Given the description of an element on the screen output the (x, y) to click on. 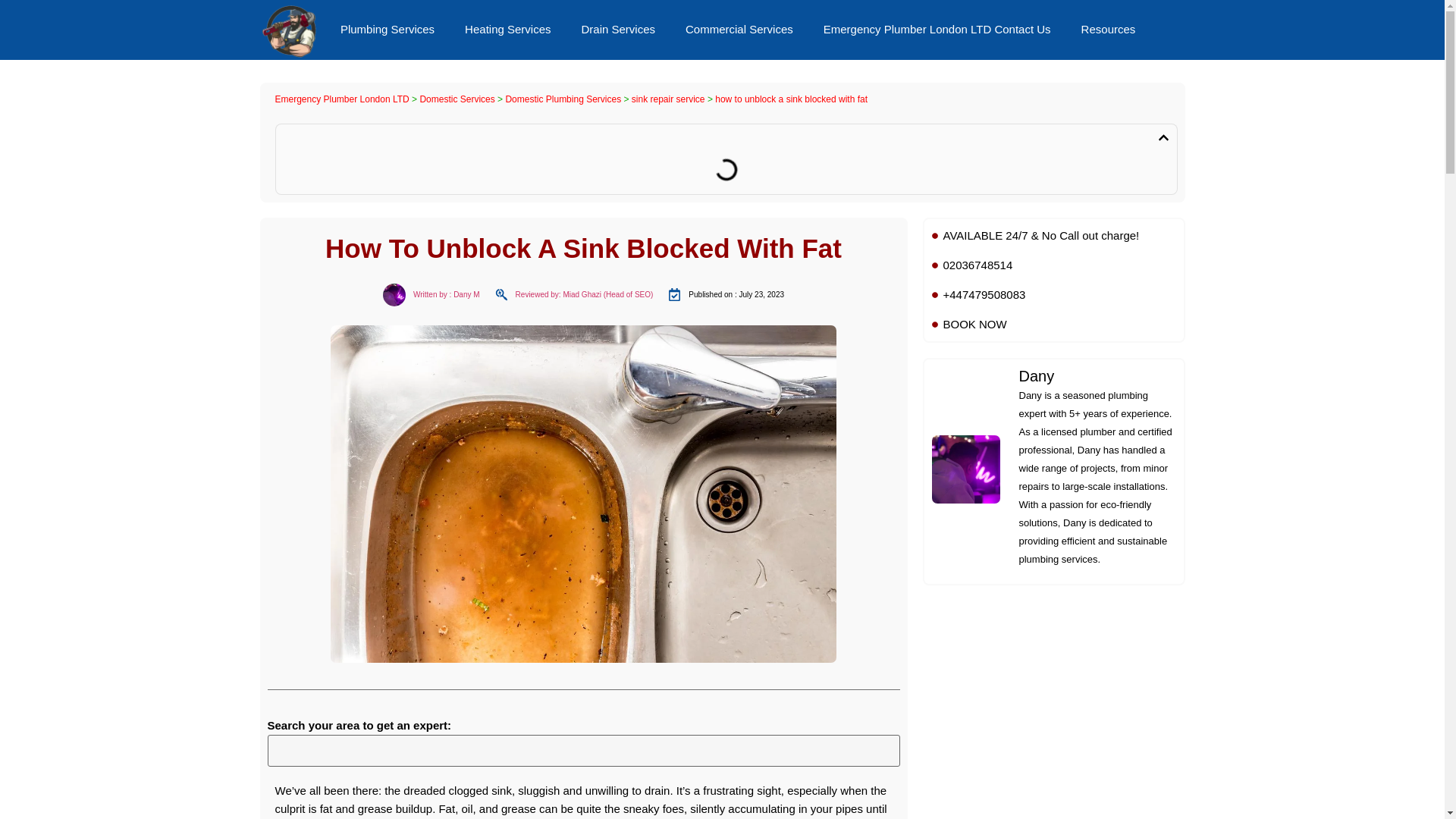
Heating Services (507, 29)
Plumbing Services (386, 29)
Drain Services (617, 29)
